Given the description of an element on the screen output the (x, y) to click on. 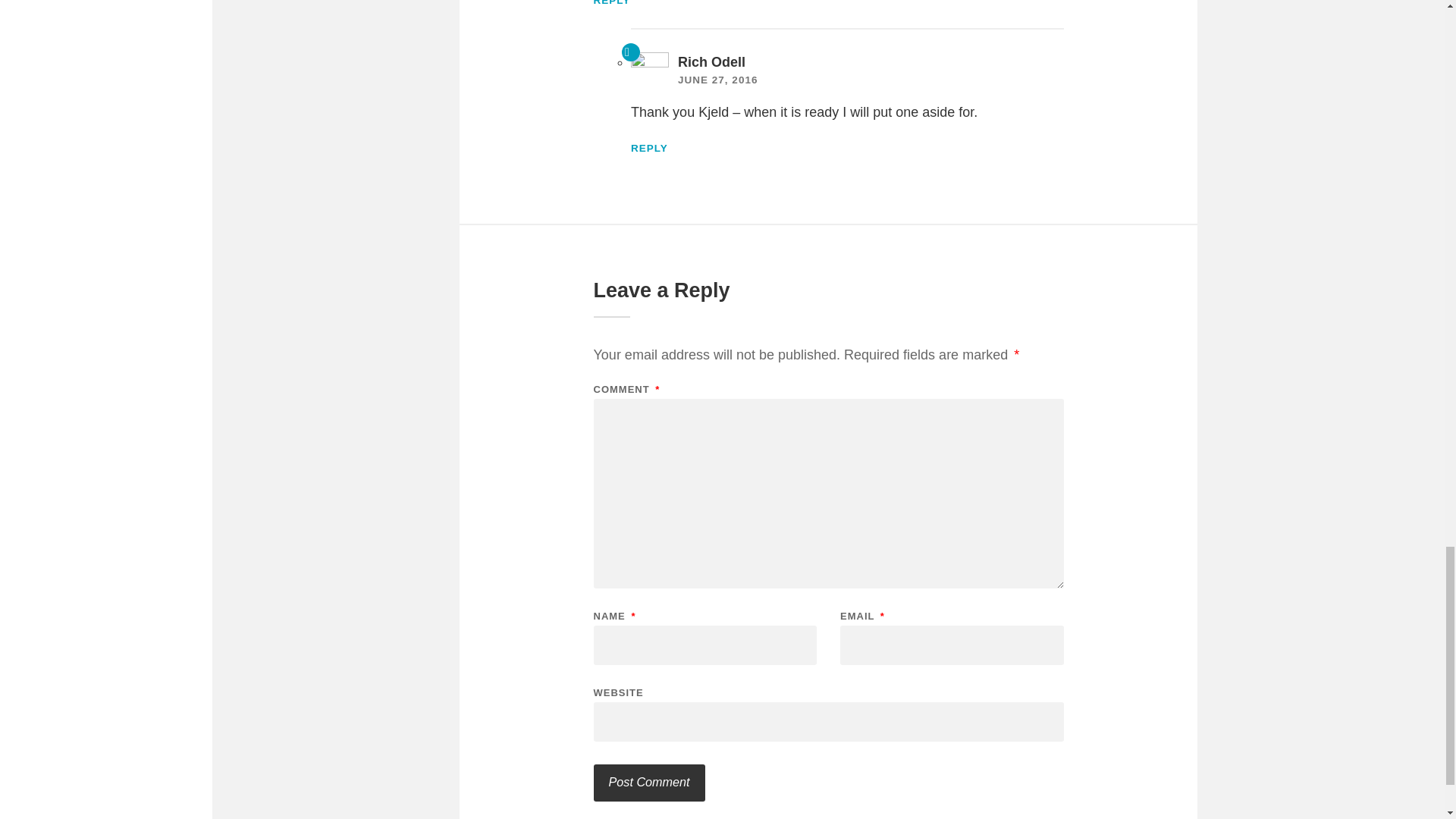
Post Comment (648, 782)
Post Comment (648, 782)
REPLY (611, 2)
JUNE 27, 2016 (717, 79)
REPLY (649, 147)
